Given the description of an element on the screen output the (x, y) to click on. 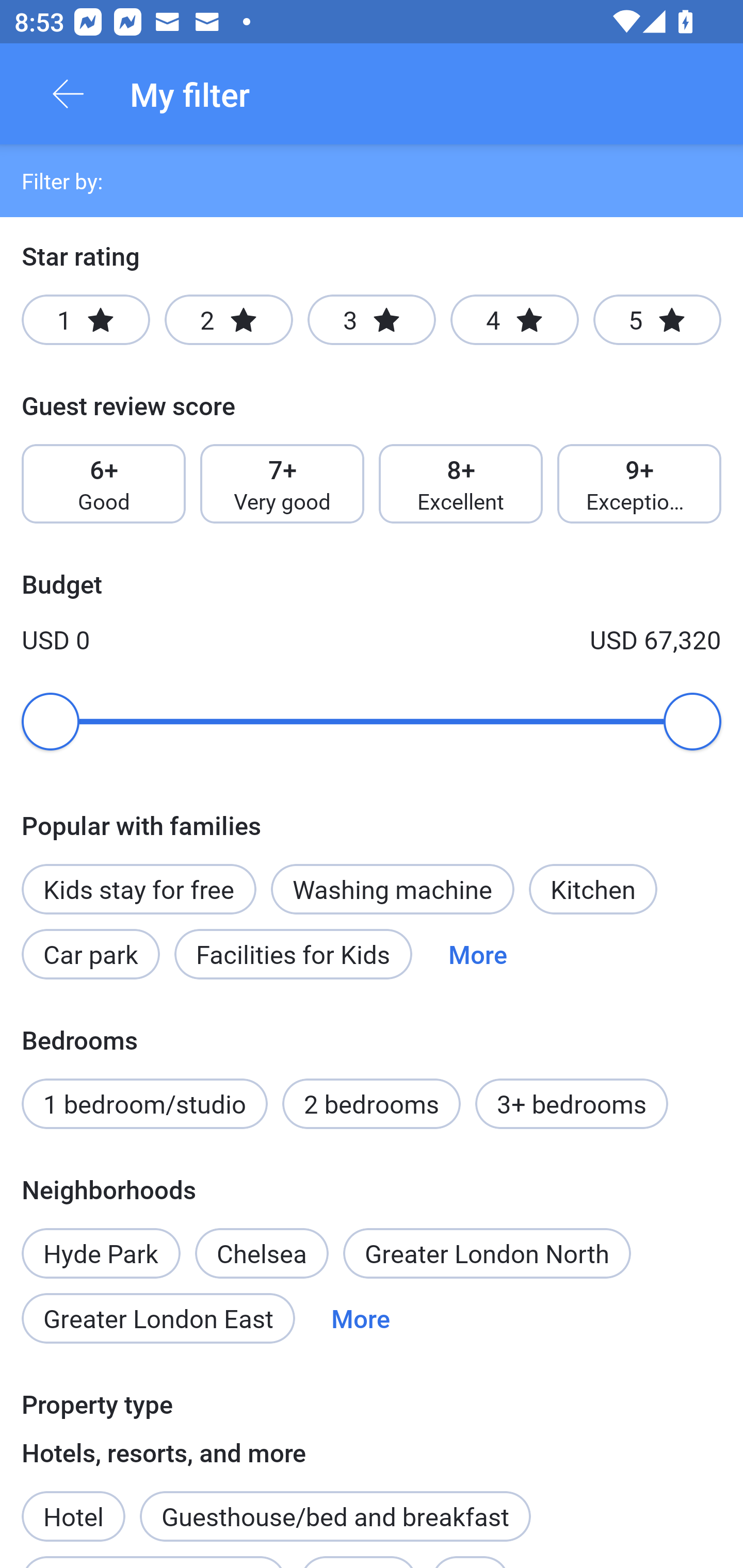
1 (85, 319)
2 (228, 319)
3 (371, 319)
4 (514, 319)
5 (657, 319)
6+ Good (103, 483)
7+ Very good (281, 483)
8+ Excellent (460, 483)
9+ Exceptional (639, 483)
Kids stay for free (138, 888)
Washing machine (392, 888)
Kitchen (593, 888)
Car park (90, 954)
Facilities for Kids (293, 954)
More (477, 954)
1 bedroom/studio (144, 1103)
2 bedrooms (371, 1103)
3+ bedrooms (571, 1103)
Hyde Park (100, 1242)
Chelsea (261, 1253)
Greater London North (486, 1253)
Greater London East (157, 1317)
More (360, 1317)
Hotel (73, 1505)
Guesthouse/bed and breakfast (335, 1516)
